Given the description of an element on the screen output the (x, y) to click on. 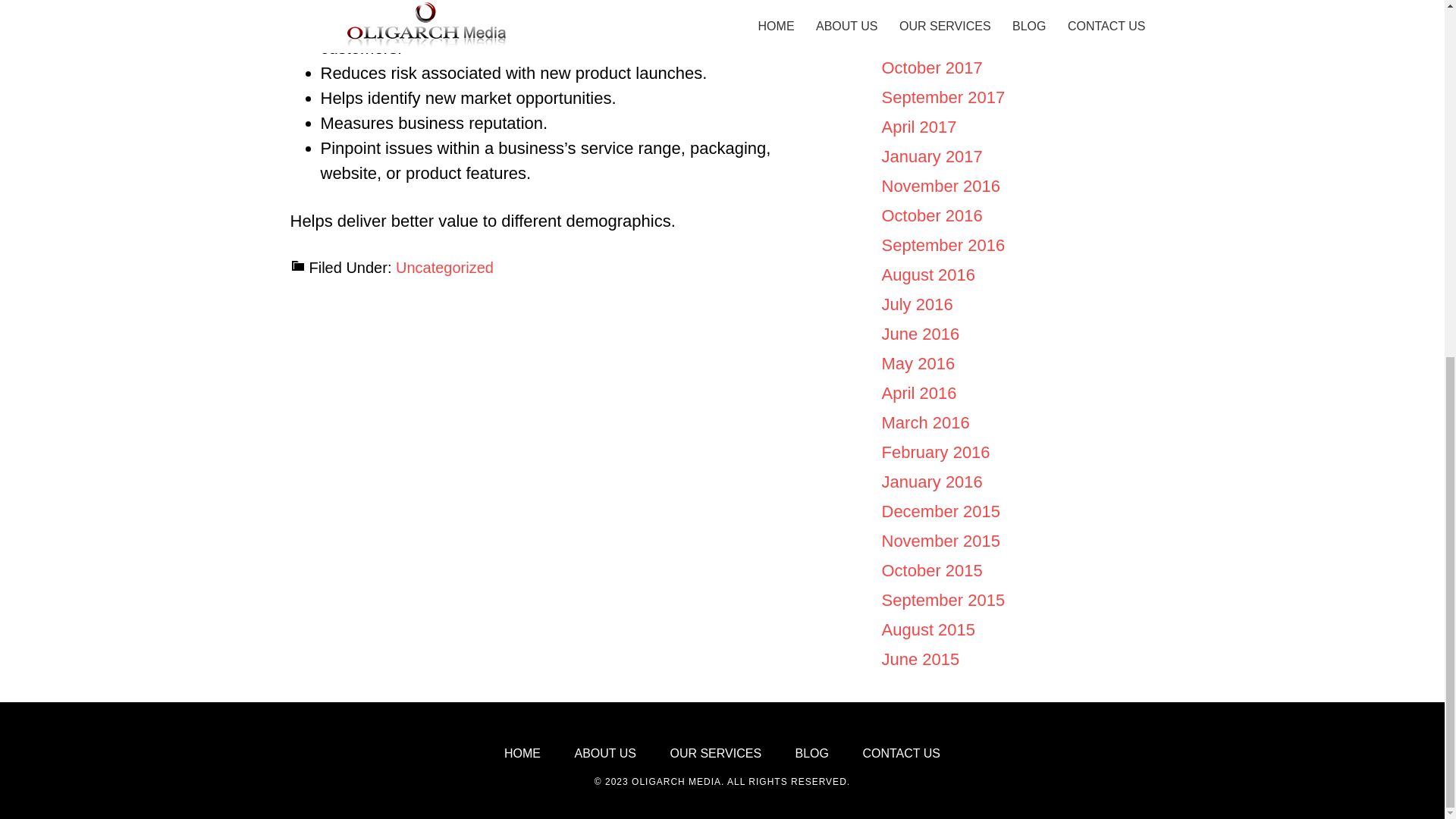
Uncategorized (444, 267)
